Given the description of an element on the screen output the (x, y) to click on. 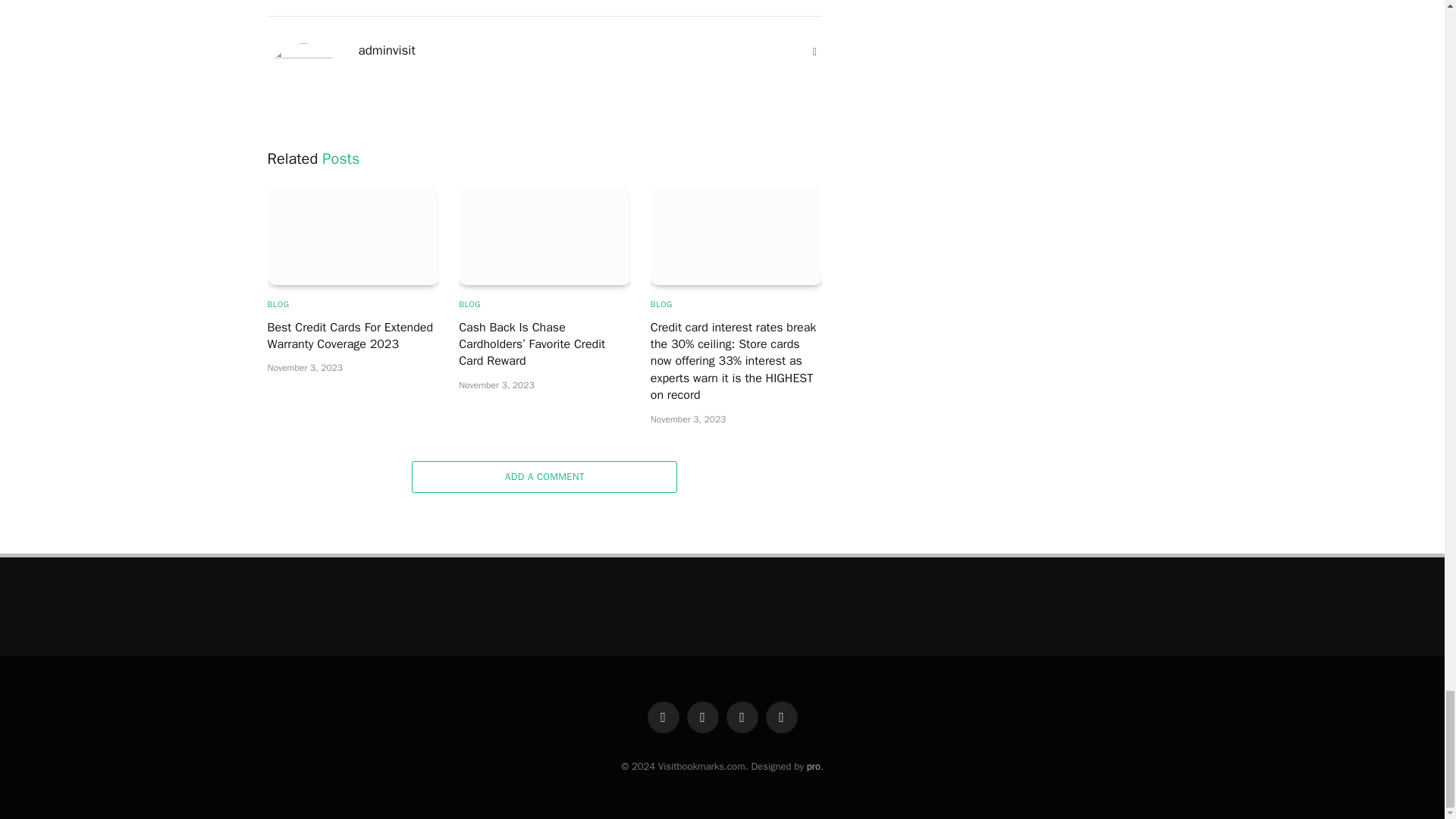
Website (814, 52)
Best Credit Cards For Extended Warranty Coverage 2023 (352, 236)
Posts by adminvisit (386, 50)
